Given the description of an element on the screen output the (x, y) to click on. 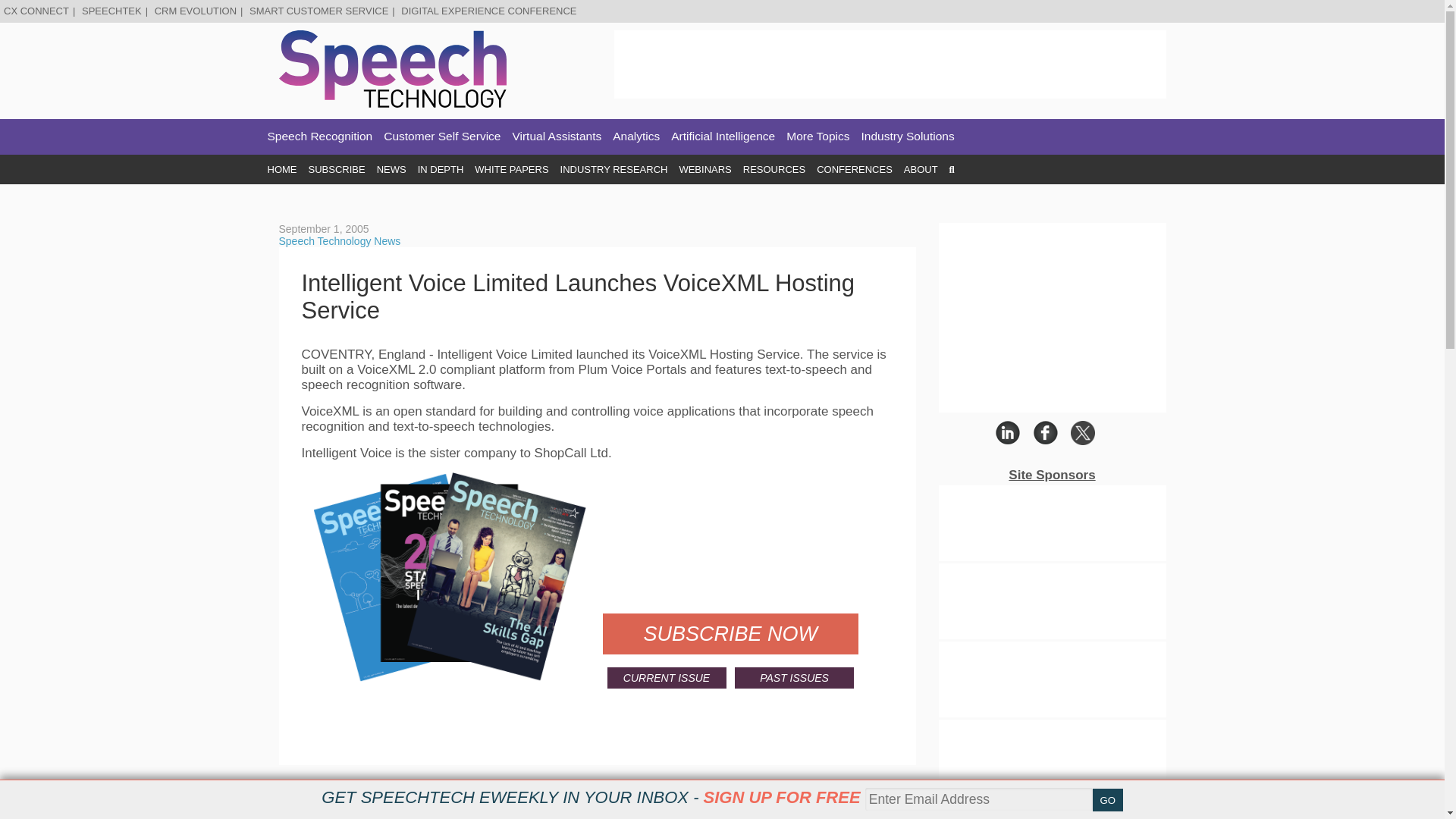
Speech Recognition (319, 136)
CX CONNECT (36, 10)
Customer Self Service (442, 136)
DIGITAL EXPERIENCE CONFERENCE (488, 10)
SMART CUSTOMER SERVICE (318, 10)
Artificial Intelligence (722, 136)
Virtual Assistants (556, 136)
More Topics (817, 136)
GO (1107, 799)
Analytics (635, 136)
